Given the description of an element on the screen output the (x, y) to click on. 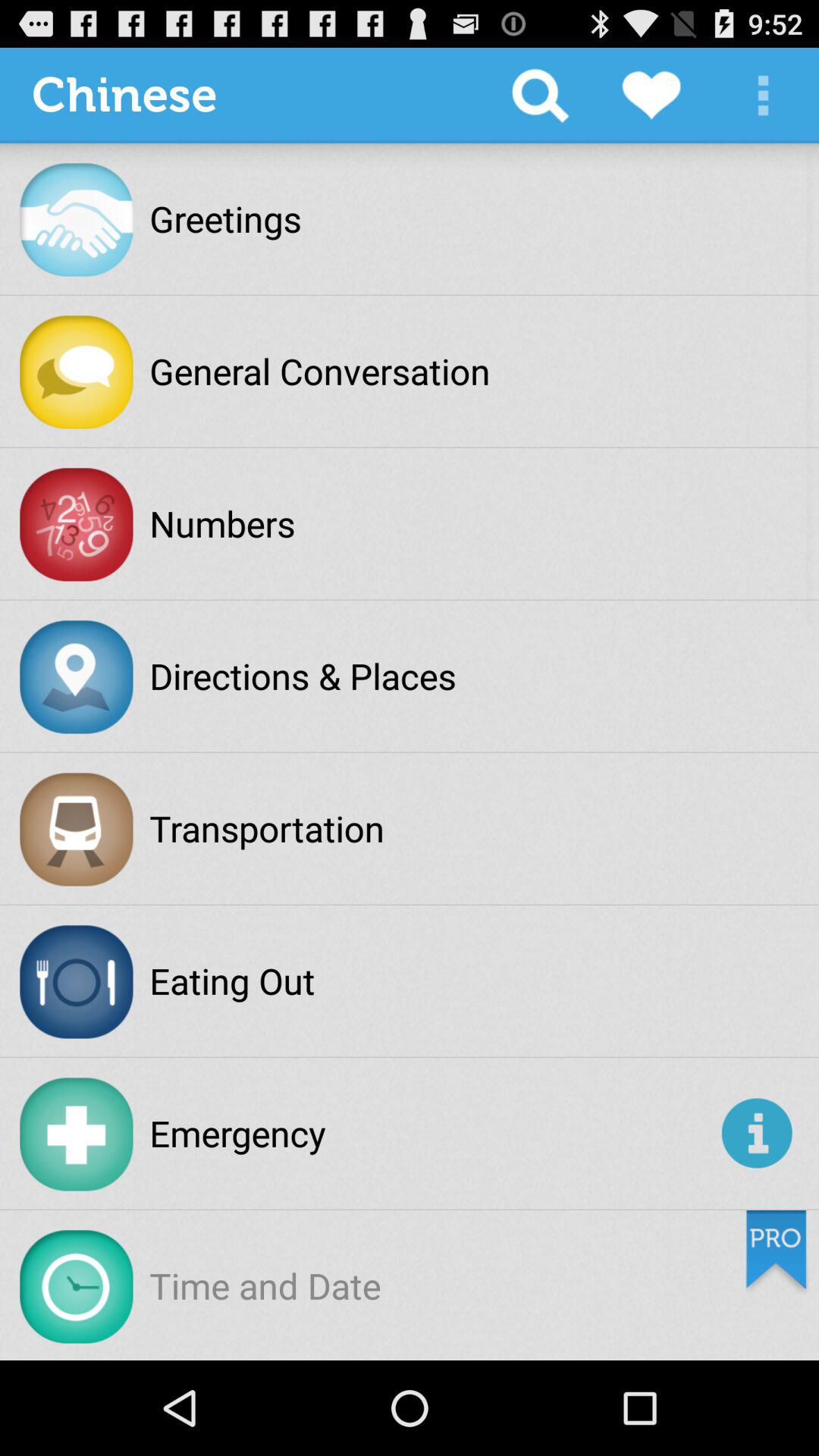
swipe until the numbers icon (222, 523)
